Given the description of an element on the screen output the (x, y) to click on. 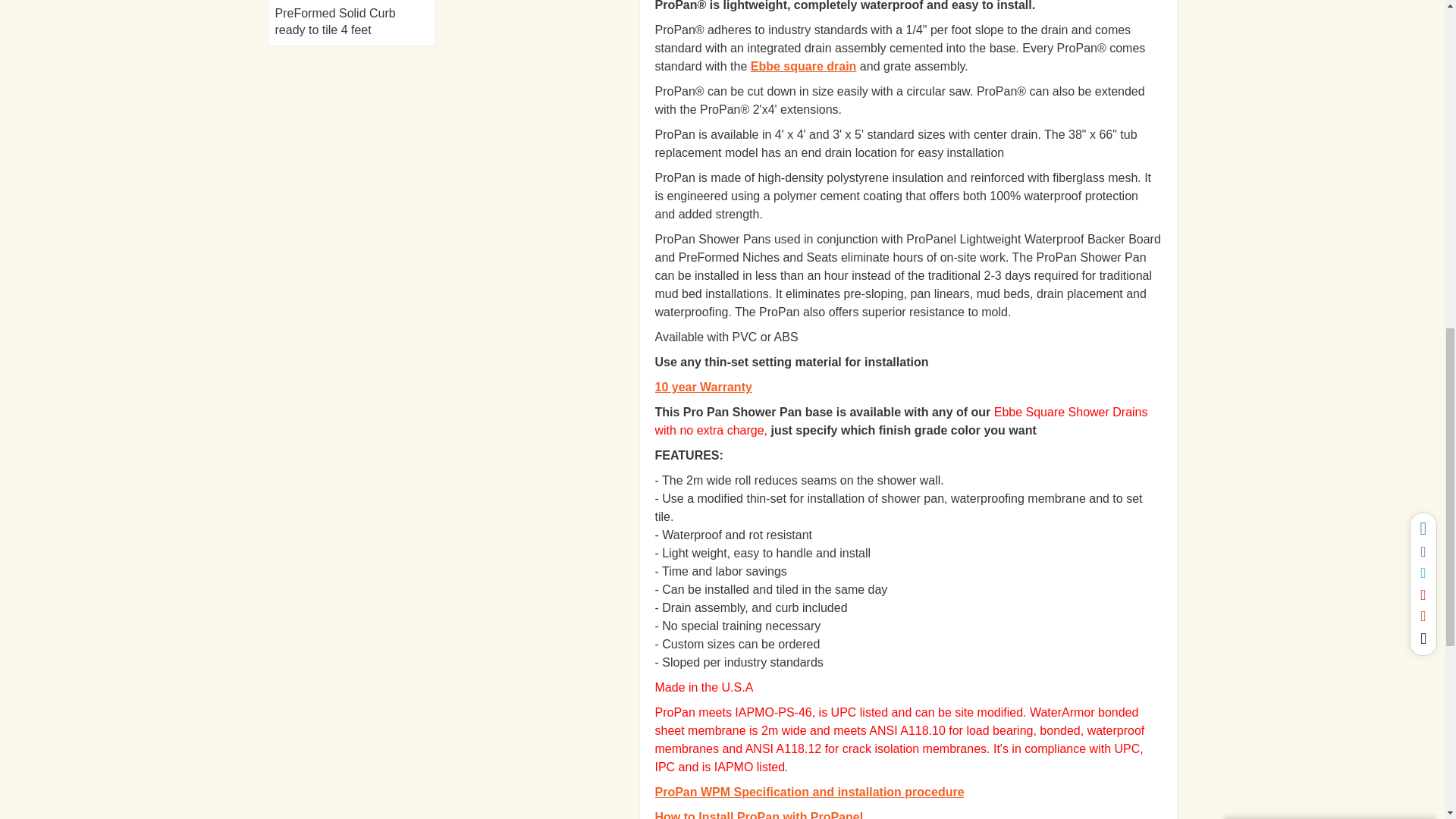
Propan Warranty (703, 386)
ProPan WPM Specification and installation procedure  (809, 791)
Ebbe Square Drain Cover Product Page (804, 65)
ProPan with ProPanel Installation Instructions (759, 814)
